Given the description of an element on the screen output the (x, y) to click on. 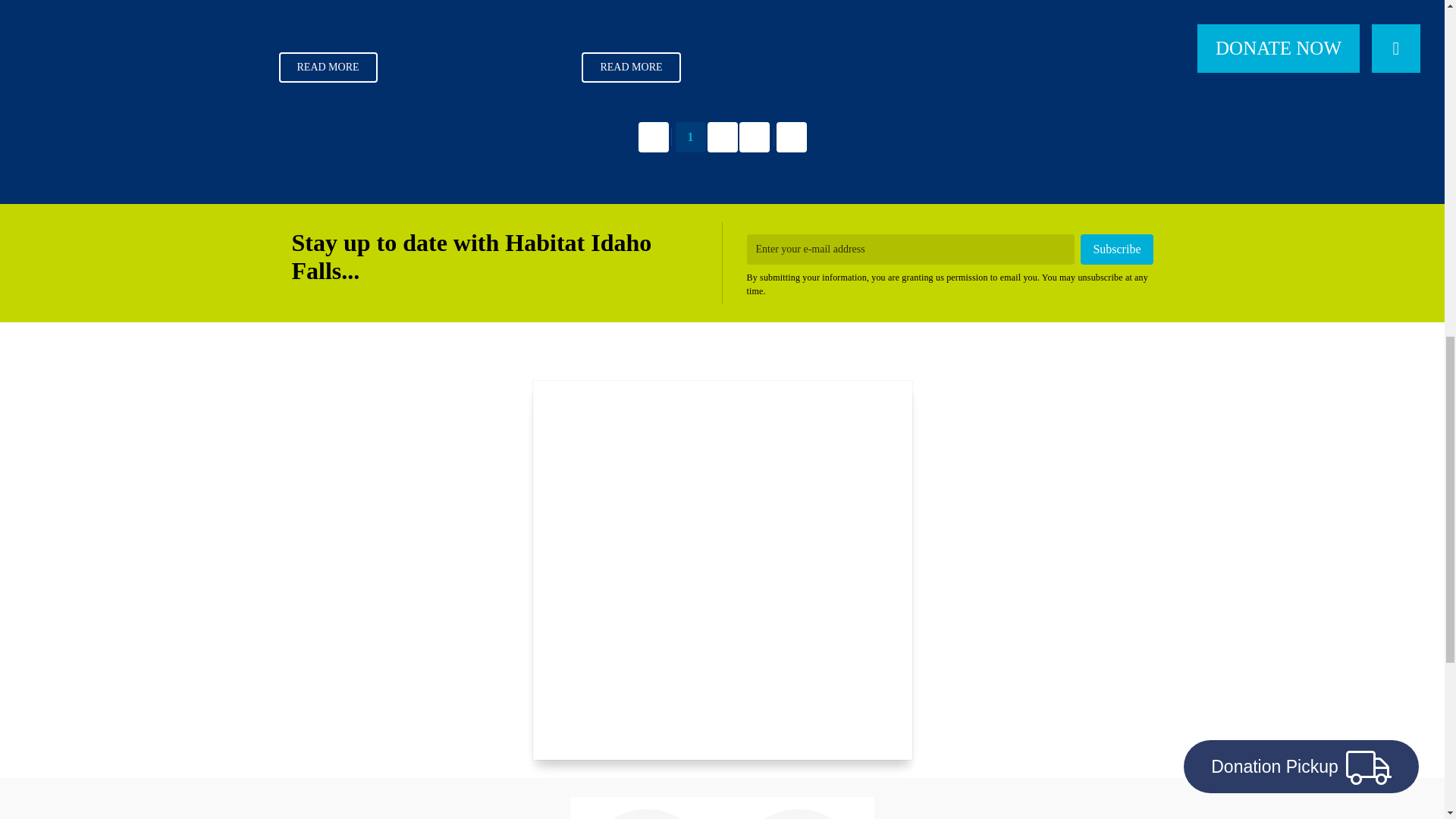
Subscribe (1116, 249)
2 (721, 137)
3 (753, 137)
1 (689, 137)
